Given the description of an element on the screen output the (x, y) to click on. 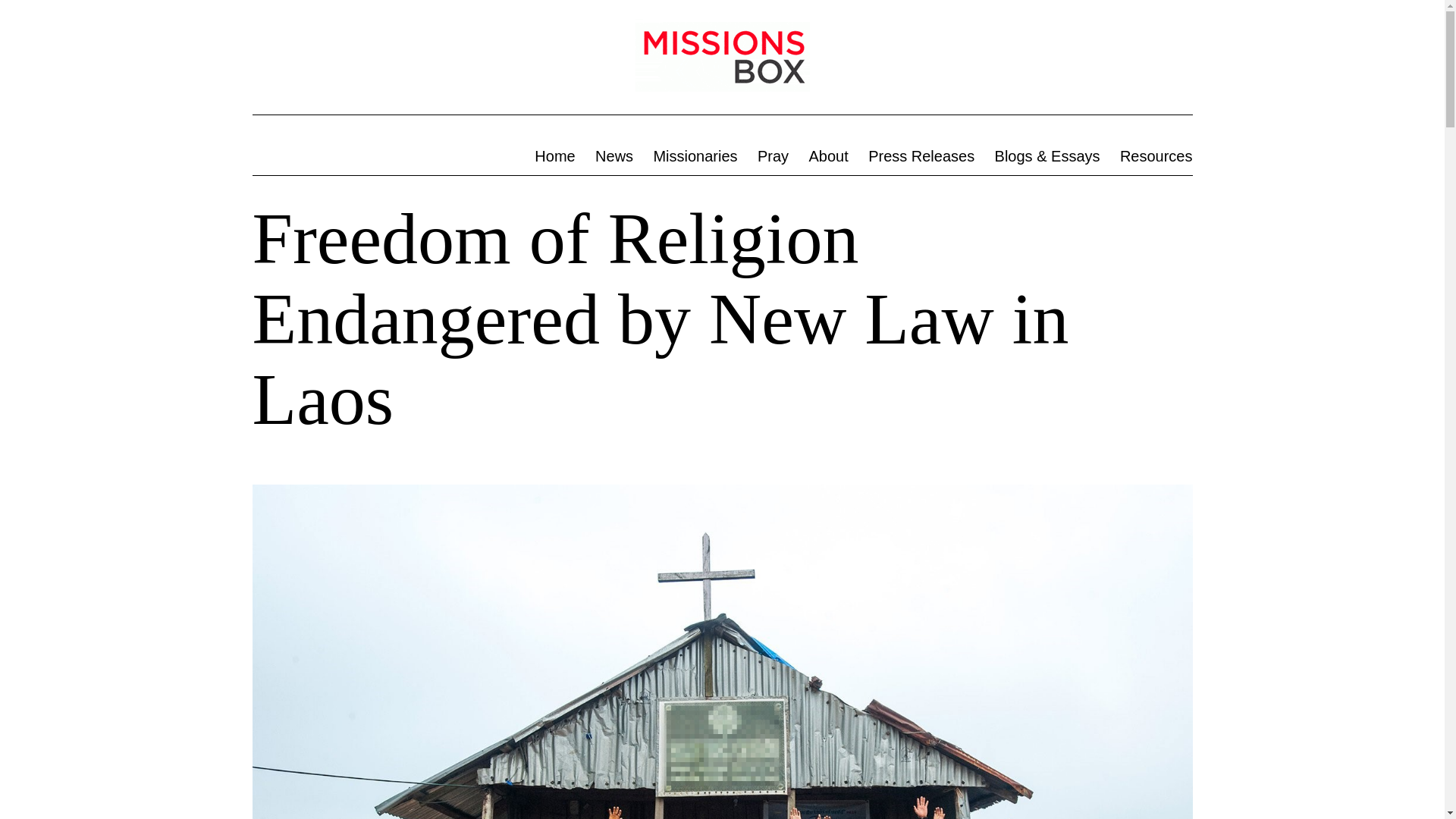
News (614, 156)
Pray (773, 156)
Resources (1155, 156)
Missionaries (695, 156)
Missions Box Press Releases (921, 156)
Home (554, 156)
About (828, 156)
Press Releases (921, 156)
About (828, 156)
Missions Box Home Page (554, 156)
